Given the description of an element on the screen output the (x, y) to click on. 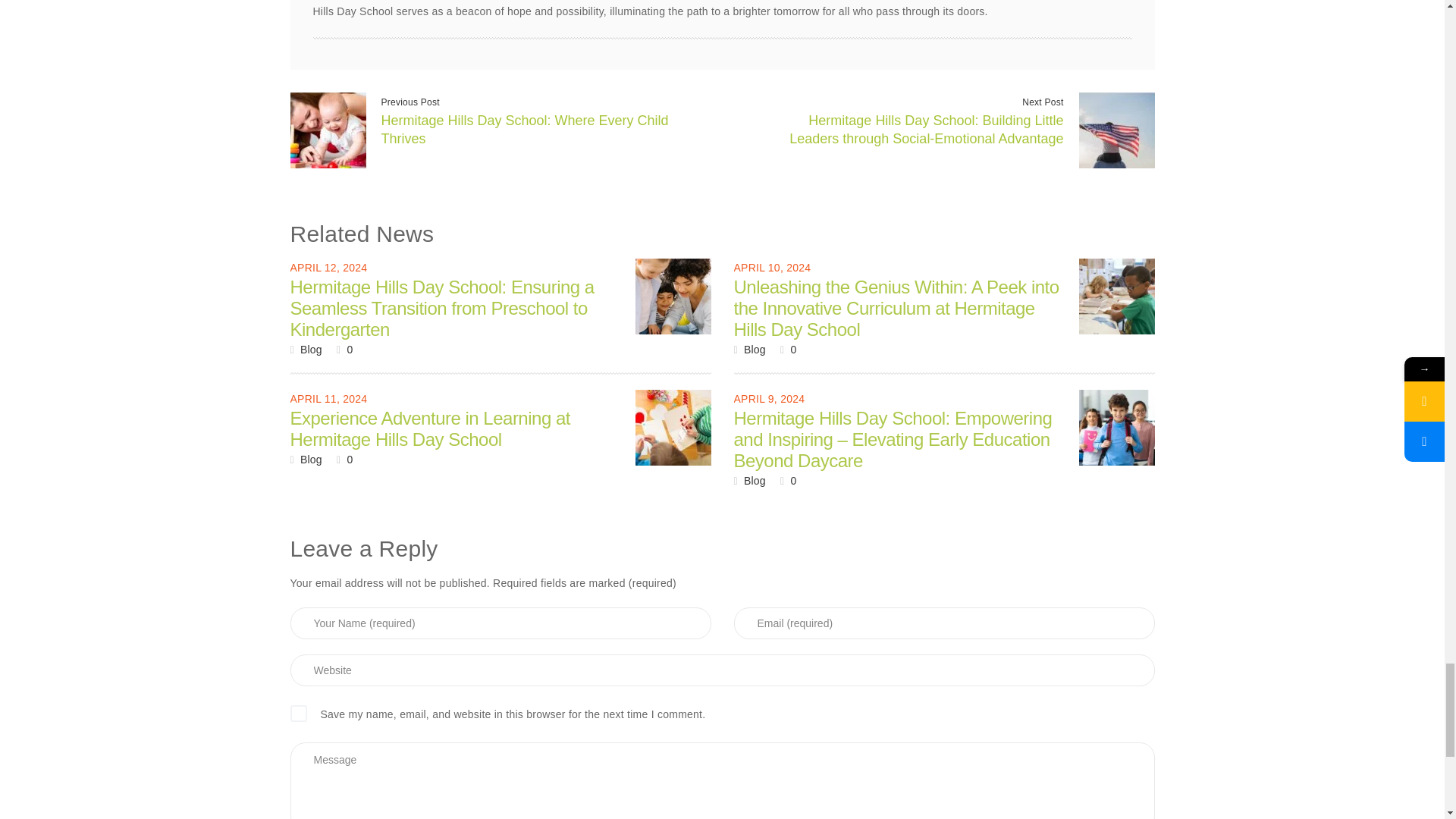
Hermitage Hills Day School: Where Every Child Thrives (524, 129)
Previous Post (409, 102)
Next Post (1042, 102)
